Given the description of an element on the screen output the (x, y) to click on. 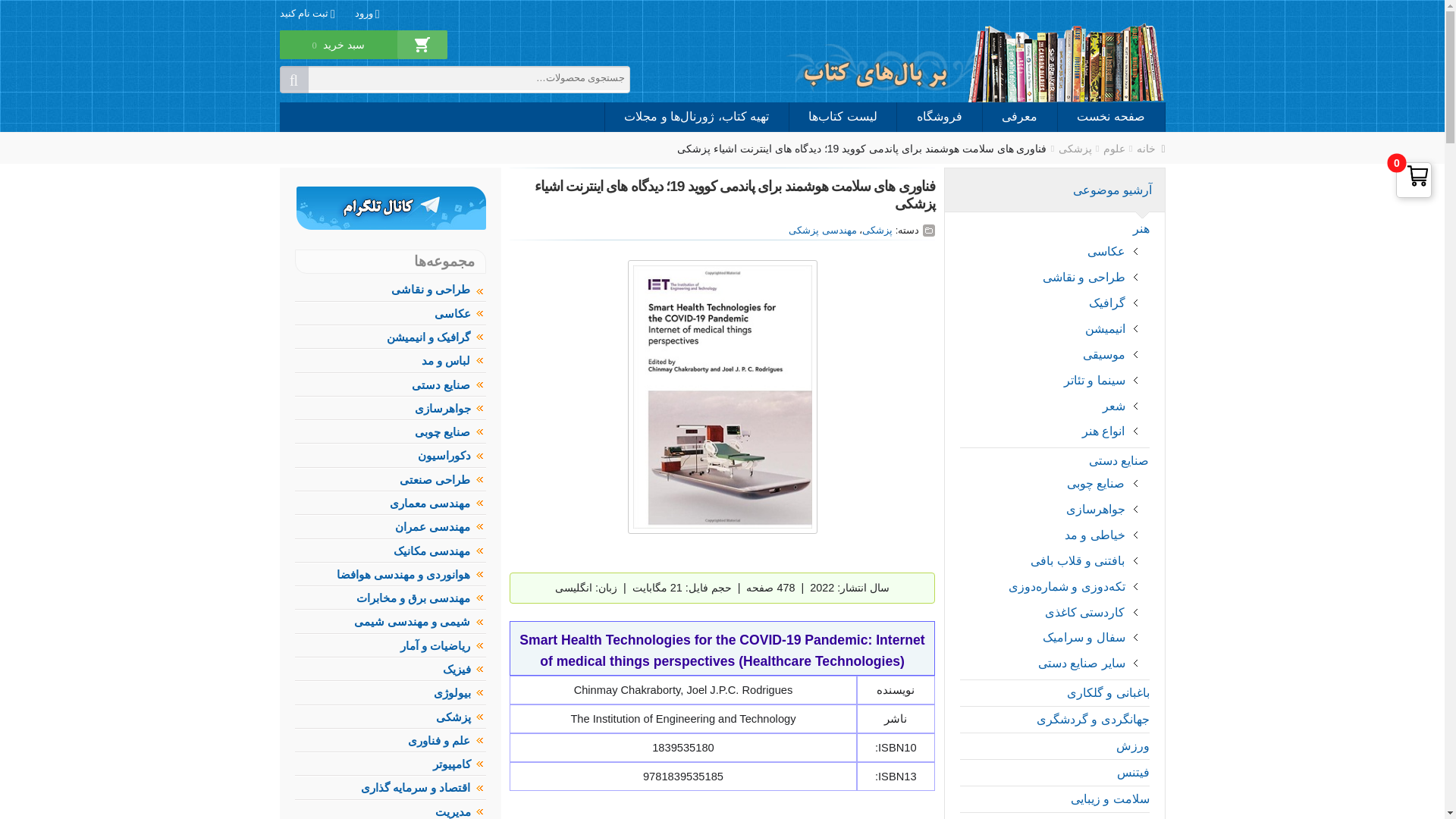
View your shopping cart (339, 54)
